Given the description of an element on the screen output the (x, y) to click on. 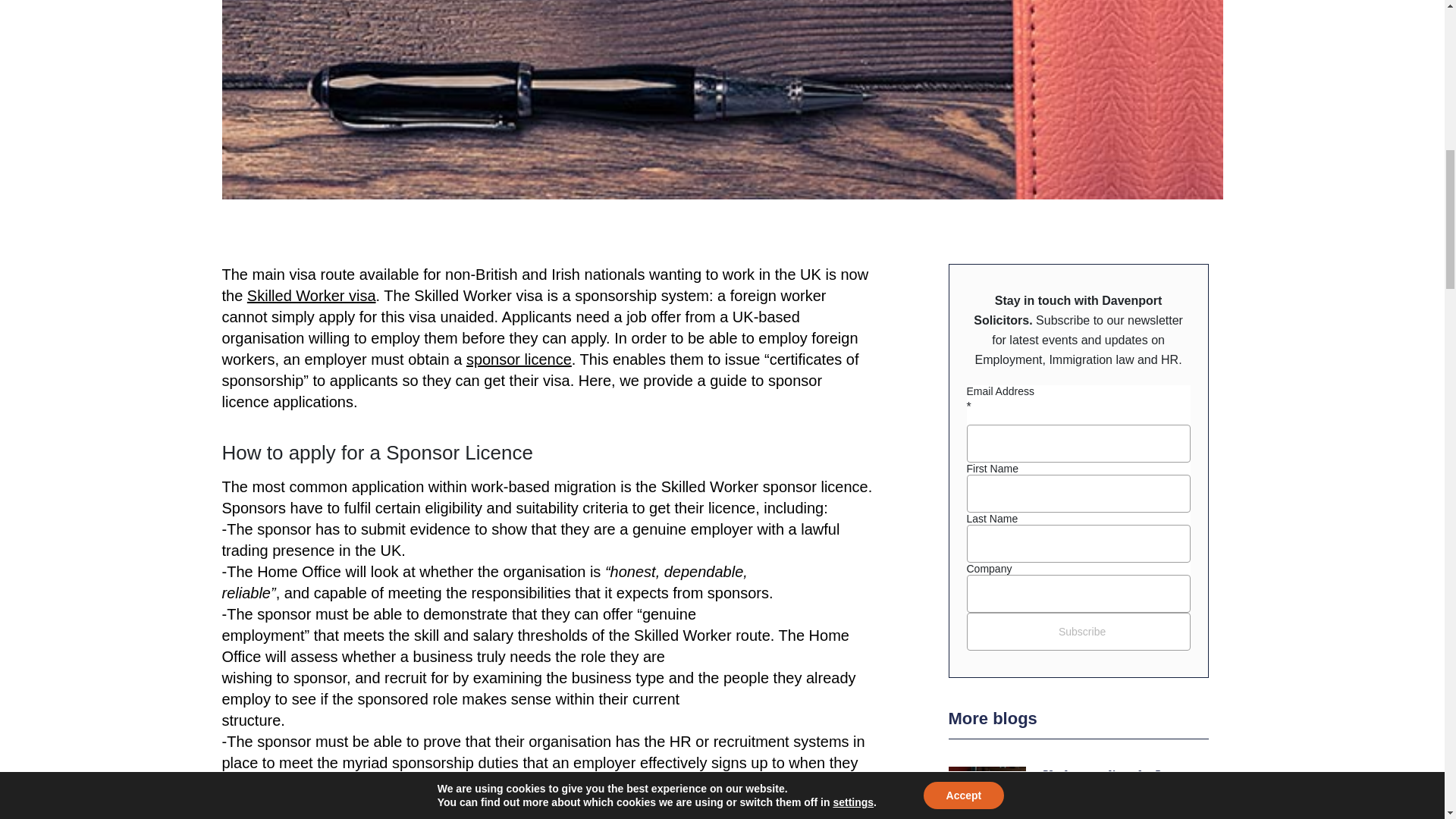
Subscribe (1077, 631)
